Given the description of an element on the screen output the (x, y) to click on. 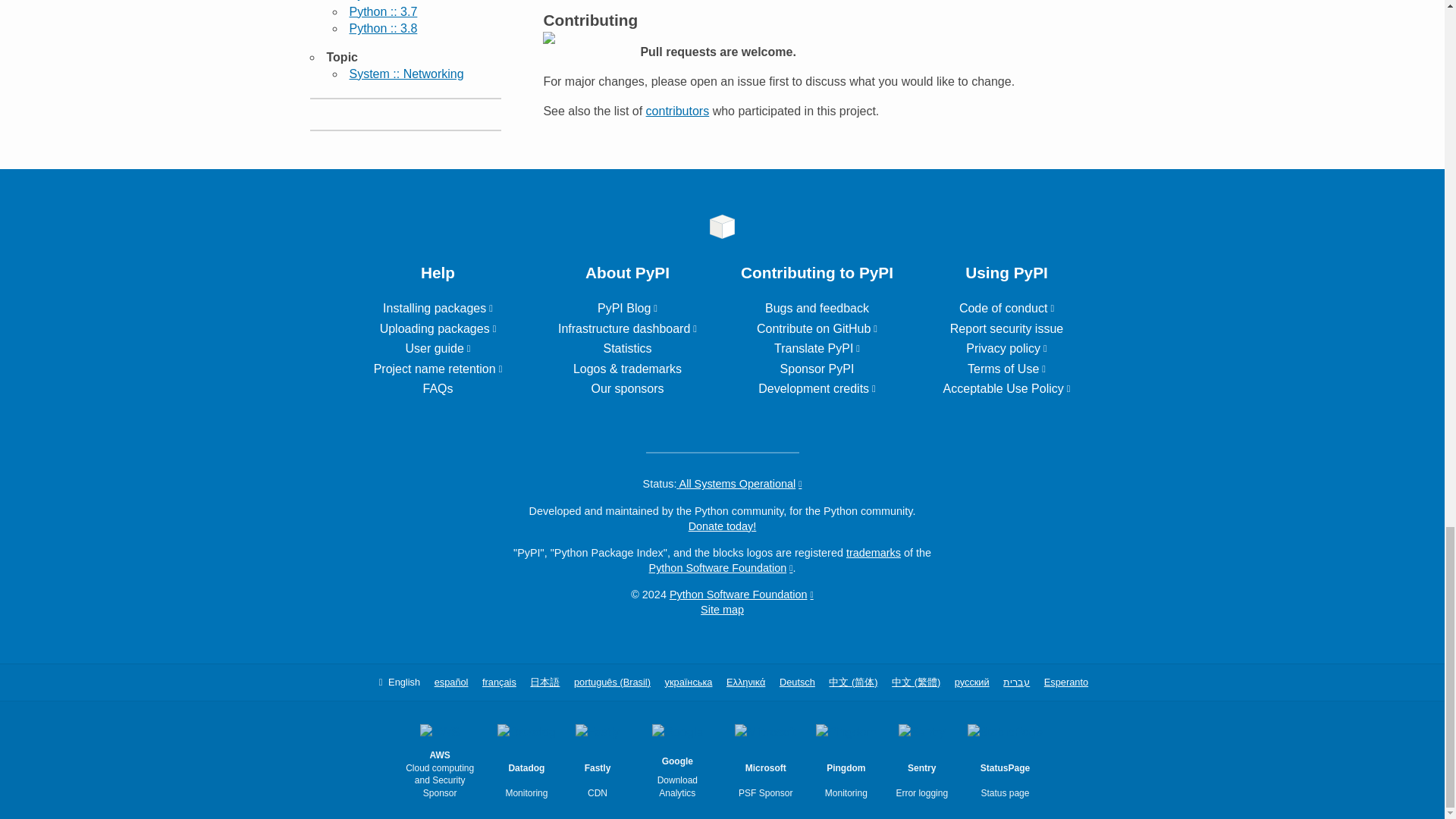
Python :: 3.7 (382, 11)
System :: Networking (406, 73)
Python :: 3.6 (382, 0)
Python :: 3.8 (382, 28)
